Given the description of an element on the screen output the (x, y) to click on. 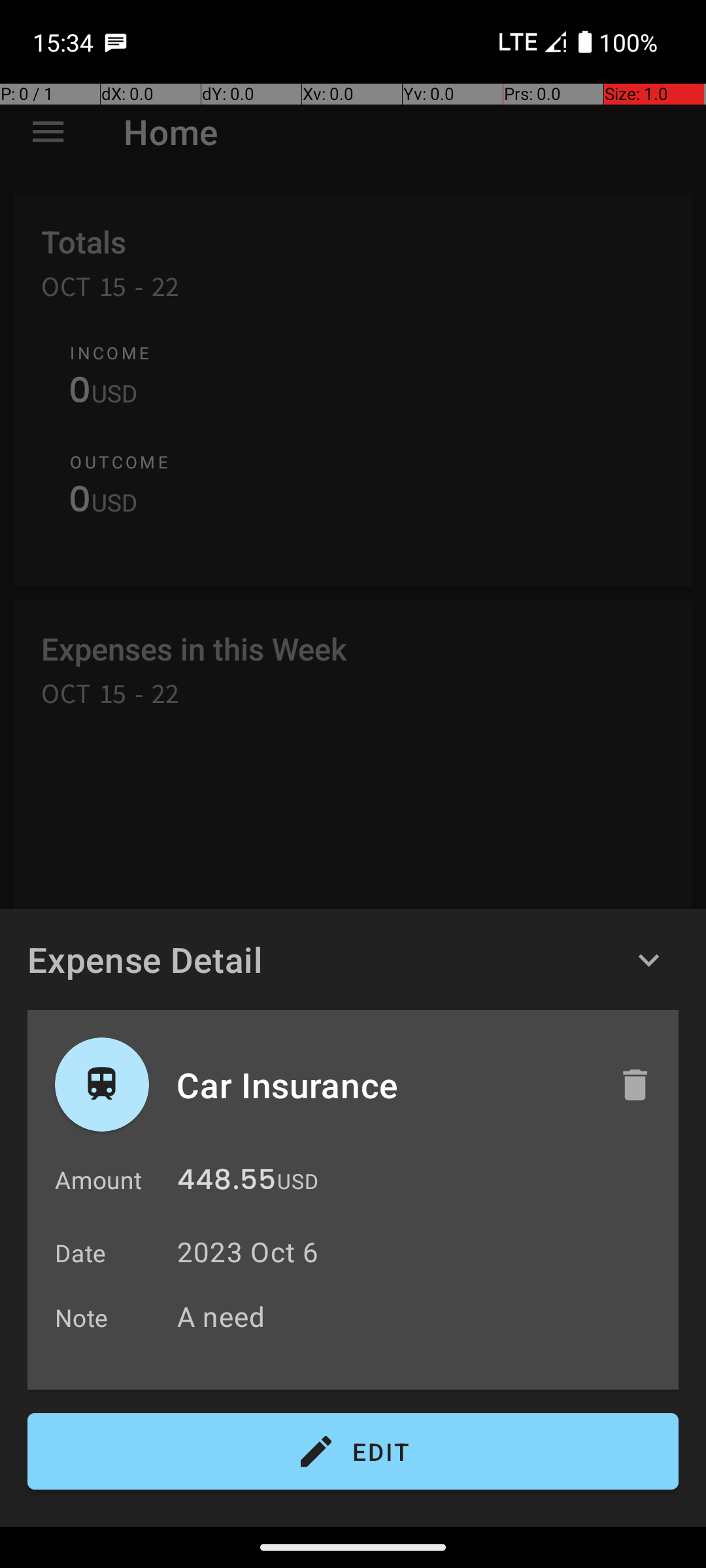
Car Insurance Element type: android.widget.TextView (383, 1084)
448.55 Element type: android.widget.TextView (226, 1182)
